Given the description of an element on the screen output the (x, y) to click on. 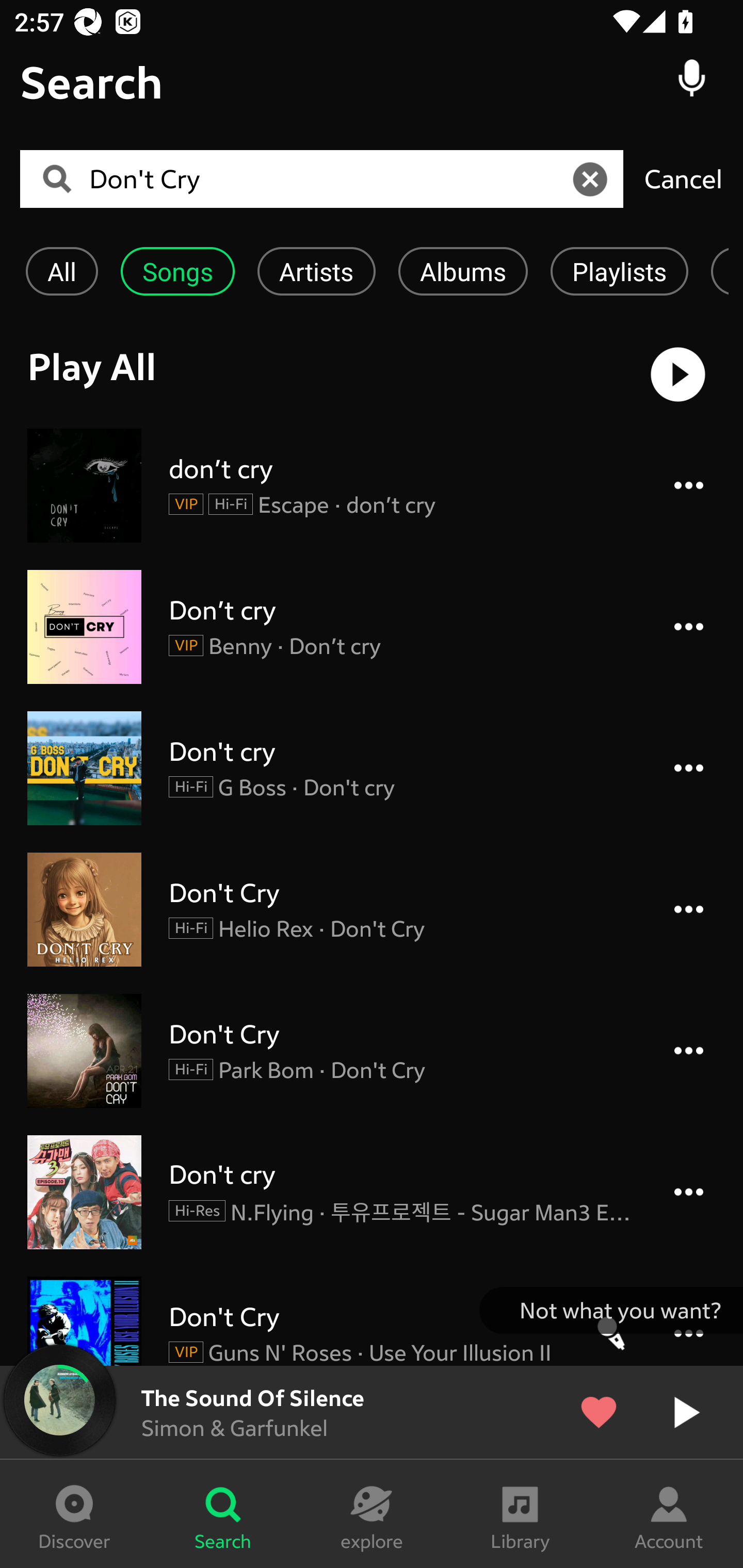
Cancel (683, 178)
Don't Cry (327, 179)
All (61, 271)
Artists (316, 271)
Albums (463, 271)
Playlists (619, 271)
Play All (371, 374)
don’t cry VIP Hi-Fi Escape · don’t cry (371, 485)
Don’t cry VIP Benny · Don’t cry (371, 626)
Don't cry Hi-Fi G Boss · Don't cry (371, 767)
Don't Cry Hi-Fi Helio Rex · Don't Cry (371, 908)
Don't Cry Hi-Fi Park Bom · Don't Cry (371, 1051)
Don't Cry VIP Guns N' Roses · Use Your Illusion II (371, 1320)
The Sound Of Silence Simon & Garfunkel (371, 1412)
Discover (74, 1513)
explore (371, 1513)
Library (519, 1513)
Account (668, 1513)
